Given the description of an element on the screen output the (x, y) to click on. 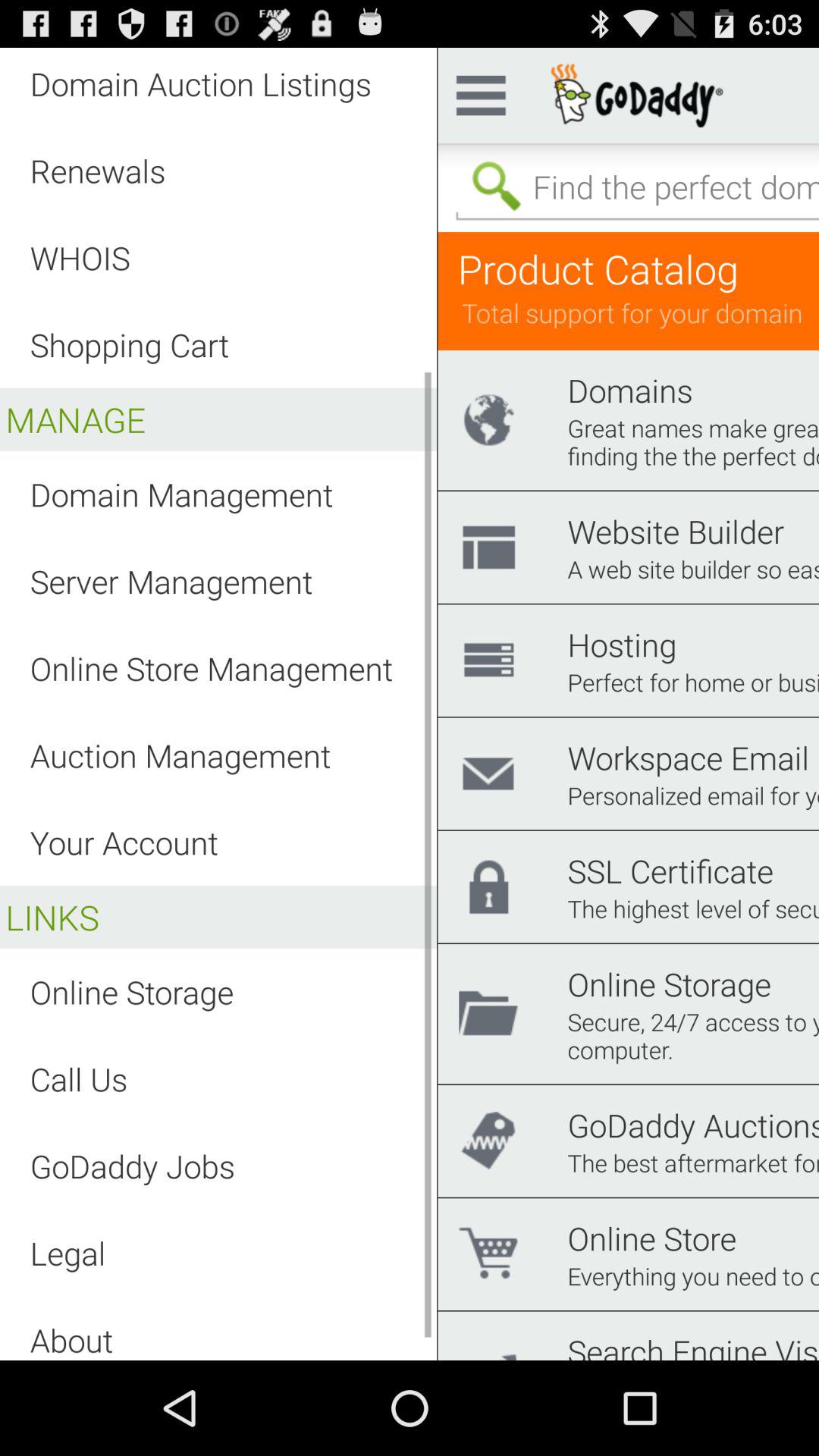
turn off server management app (171, 580)
